Given the description of an element on the screen output the (x, y) to click on. 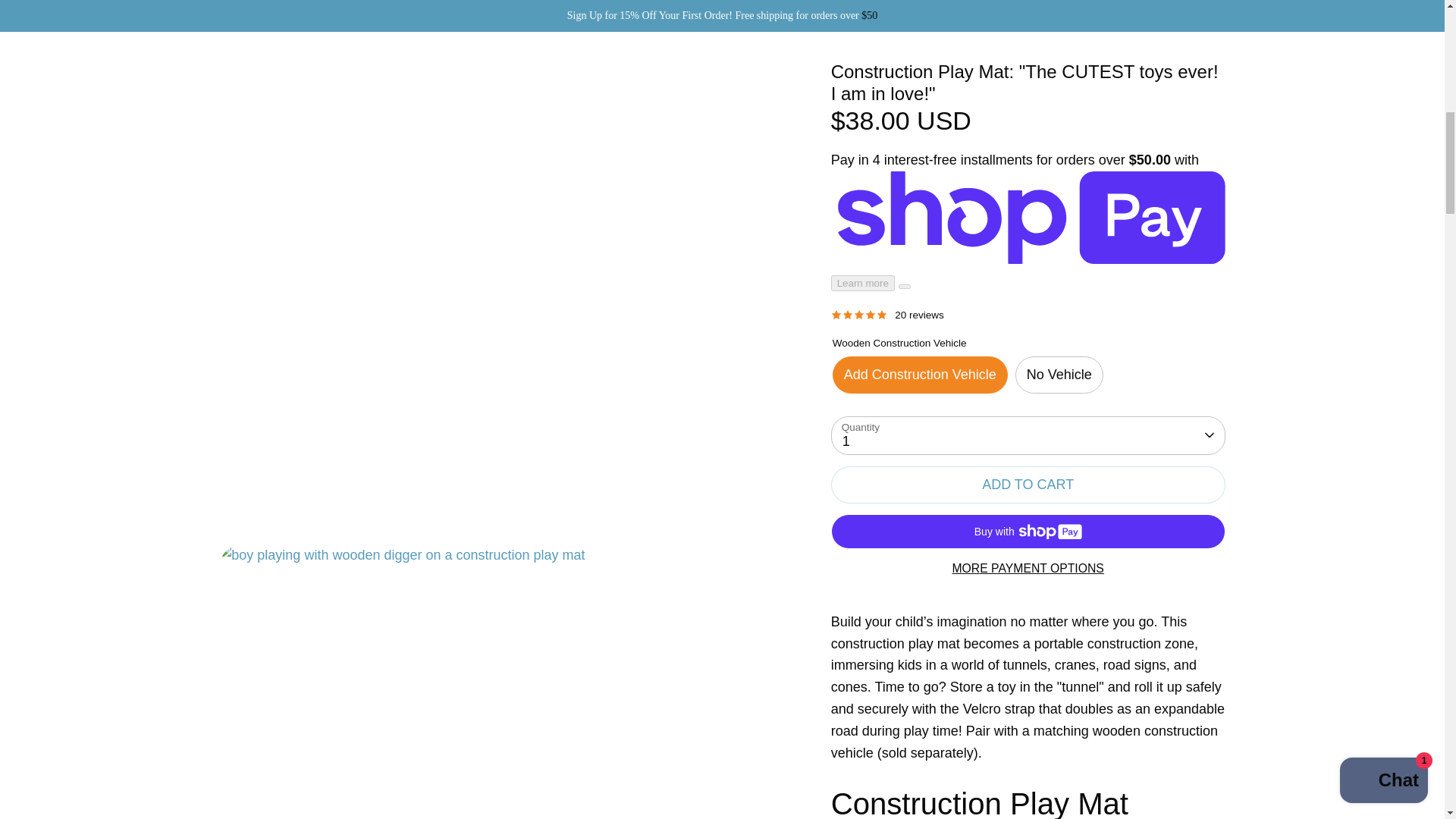
toddler travel tips (1109, 527)
toy car storage (1123, 494)
best toys for travel (1027, 538)
construction coloring page (1058, 460)
YouTube video player (1028, 695)
construction toys collection (1002, 416)
car play mat (982, 427)
toy car mat (1142, 427)
